Given the description of an element on the screen output the (x, y) to click on. 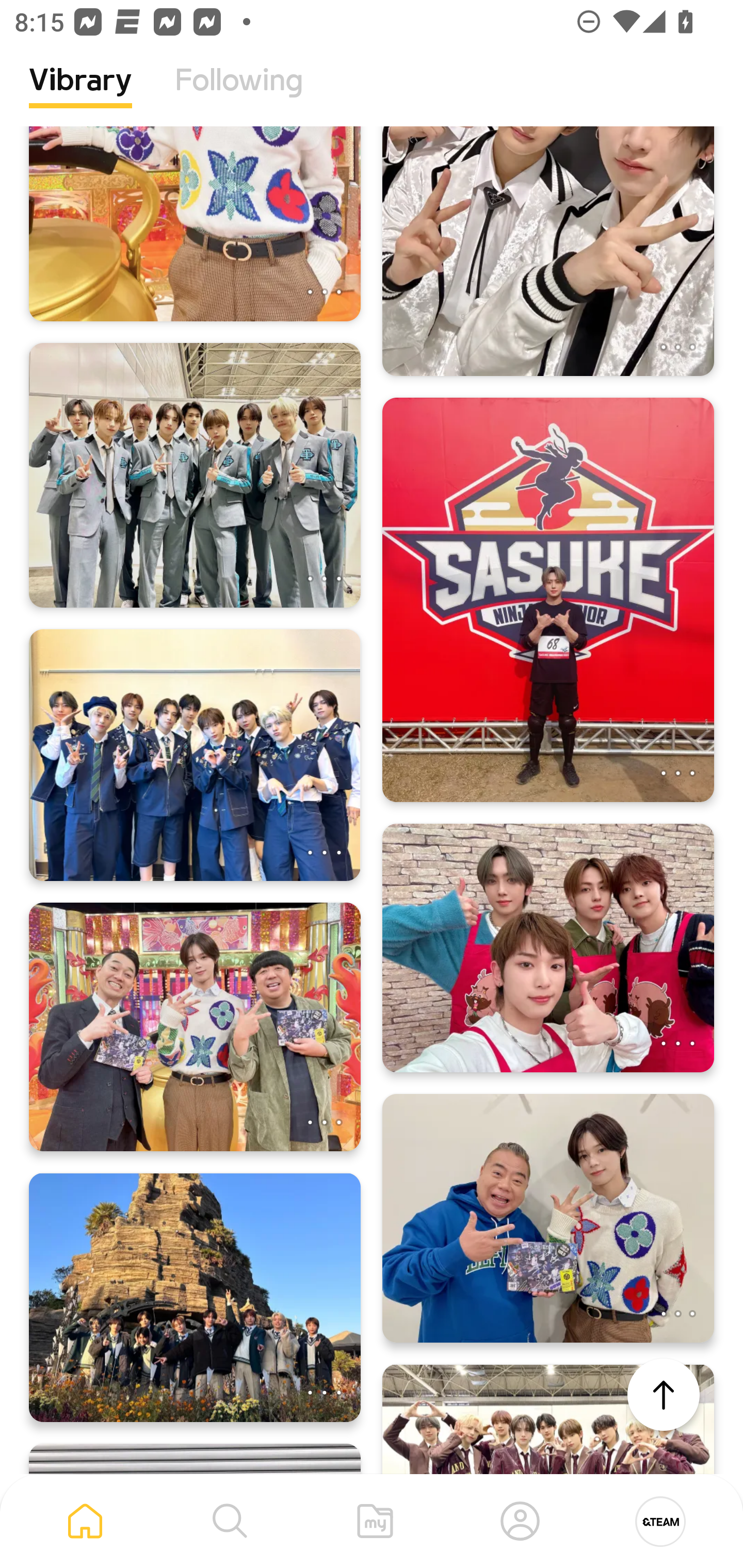
Vibrary (80, 95)
Following (239, 95)
